Given the description of an element on the screen output the (x, y) to click on. 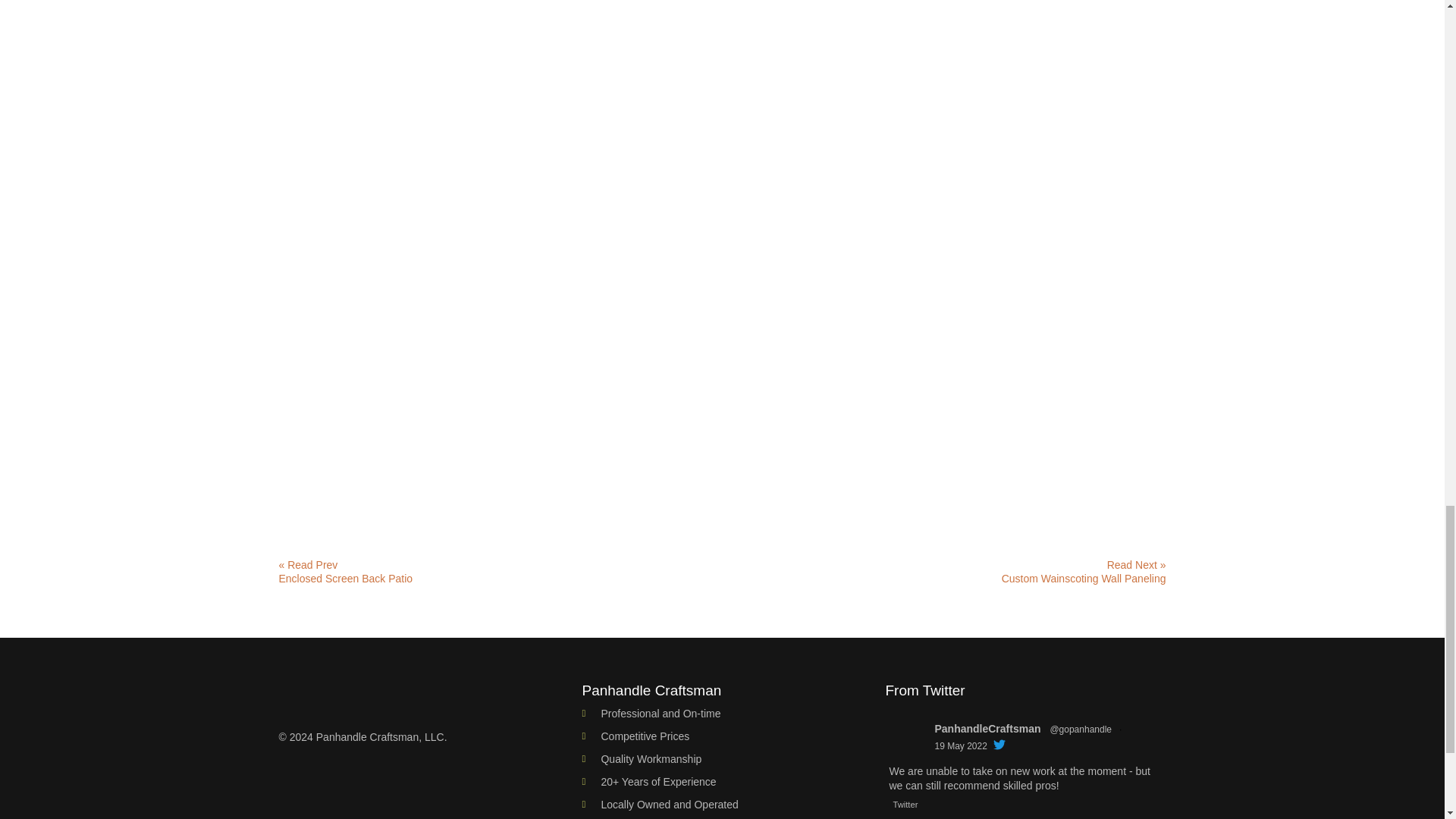
PanhandleCraftsman (987, 729)
Twitter 1527380056607268864 (907, 804)
19 May 2022 (960, 746)
